Given the description of an element on the screen output the (x, y) to click on. 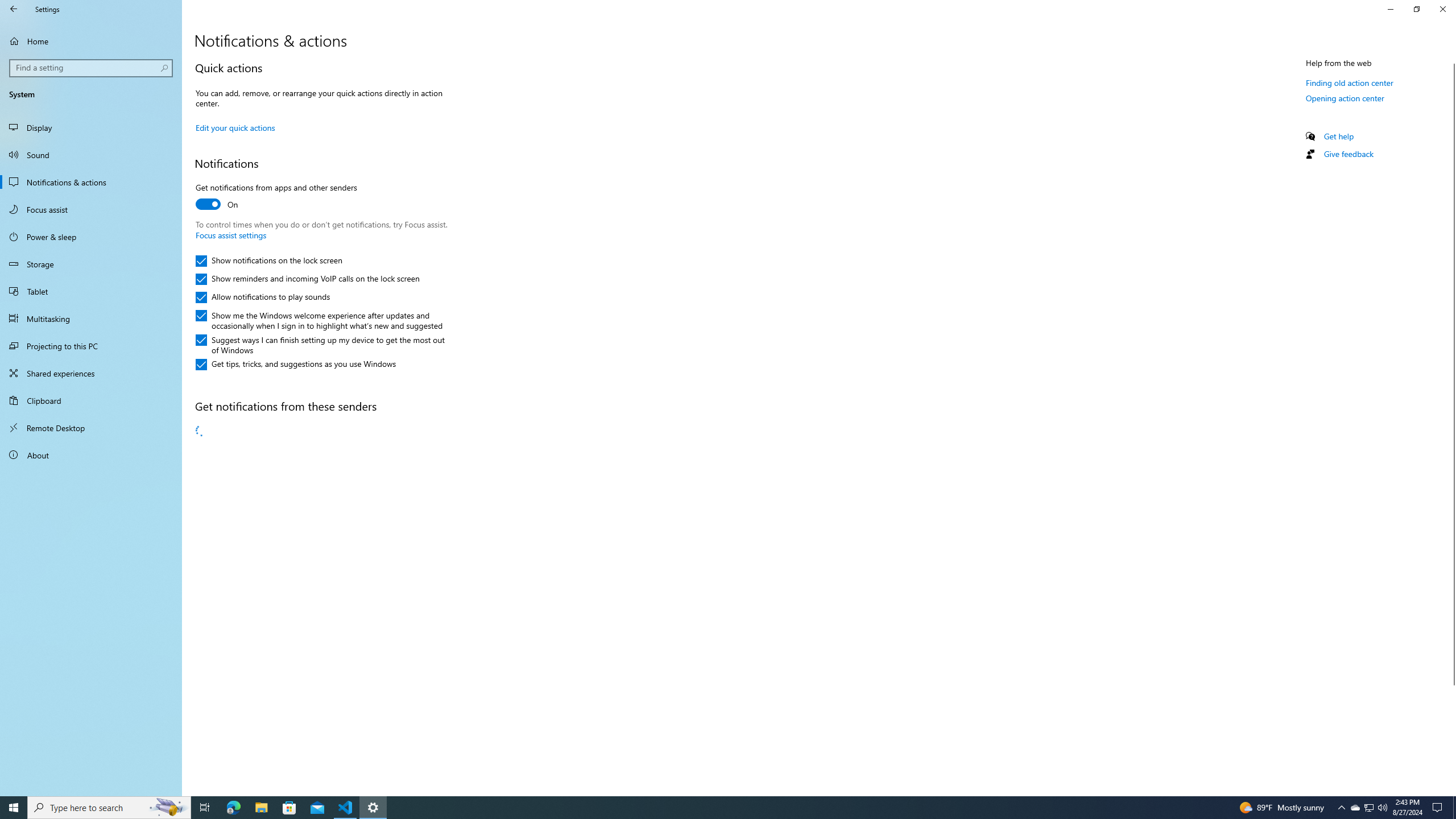
Get notifications from apps and other senders (275, 196)
Edit your quick actions (235, 127)
Clipboard (91, 400)
Snip & Sketch (319, 632)
Feedback Hub (319, 587)
About (91, 454)
Allow notifications to play sounds (262, 297)
Input Switch Notification (319, 768)
Close Settings (1442, 9)
